Given the description of an element on the screen output the (x, y) to click on. 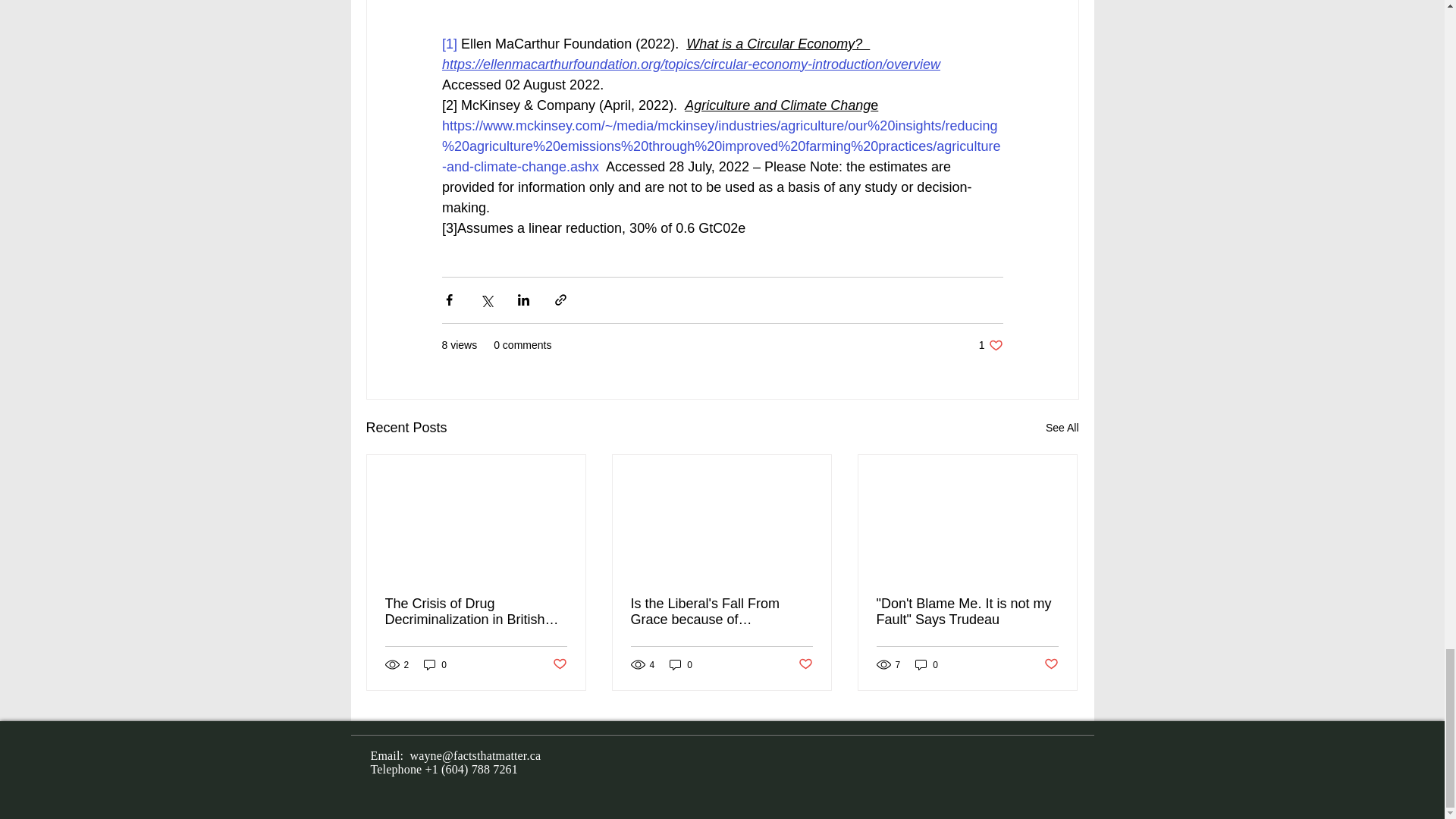
"Don't Blame Me. It is not my Fault" Says Trudeau (967, 612)
0 (990, 345)
Post not marked as liked (435, 664)
See All (558, 664)
0 (1061, 427)
0 (926, 664)
The Crisis of Drug Decriminalization in British Columbia (681, 664)
Post not marked as liked (476, 612)
